Given the description of an element on the screen output the (x, y) to click on. 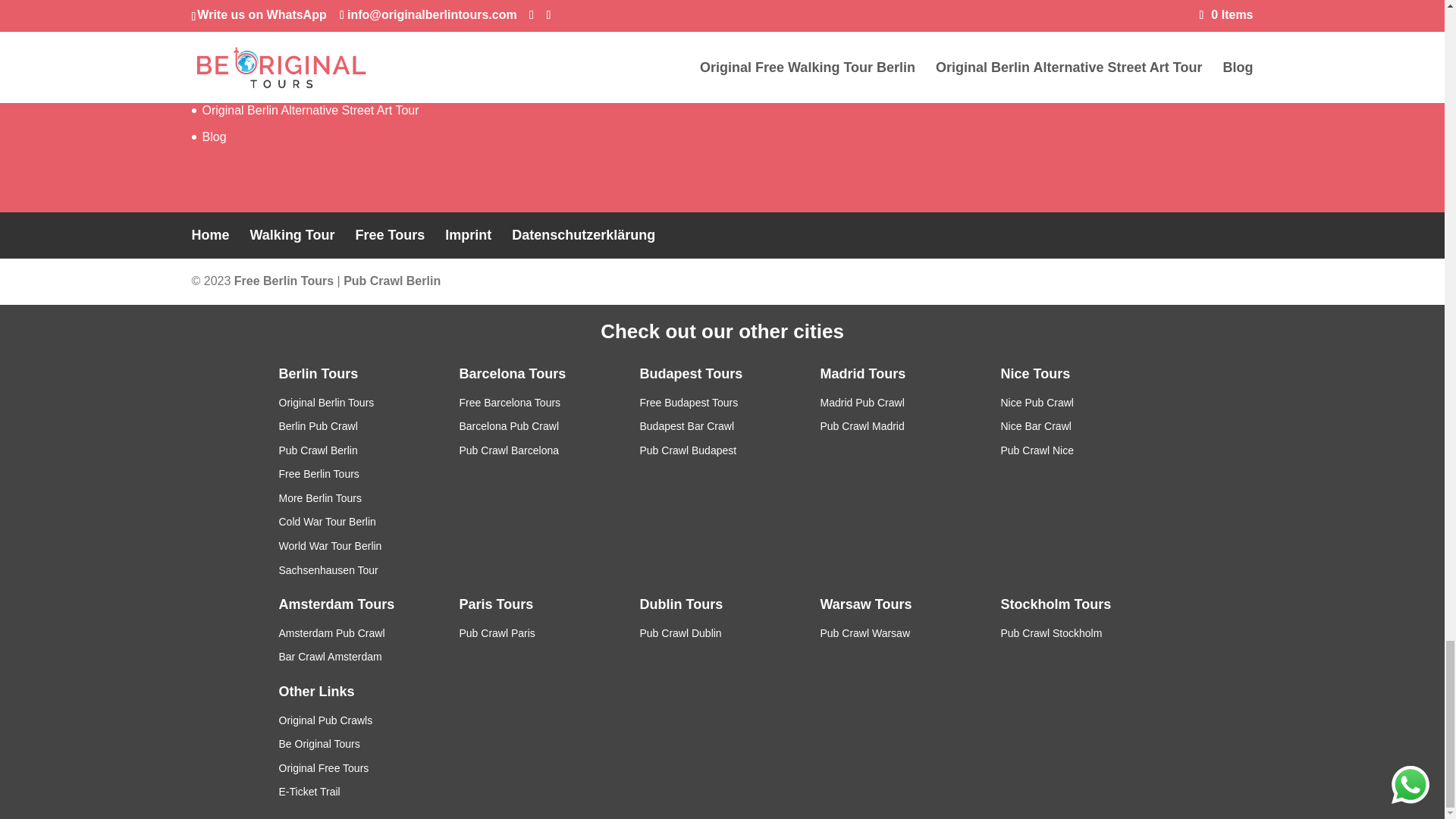
Free Tours (390, 234)
Home (209, 234)
Original Free Walking Tour Berlin (290, 83)
Pub Crawl Berlin (392, 280)
Blog (213, 136)
Imprint (468, 234)
Walking Tour (292, 234)
Original Berlin Alternative Street Art Tour (310, 110)
Free Berlin Tours (283, 280)
